Given the description of an element on the screen output the (x, y) to click on. 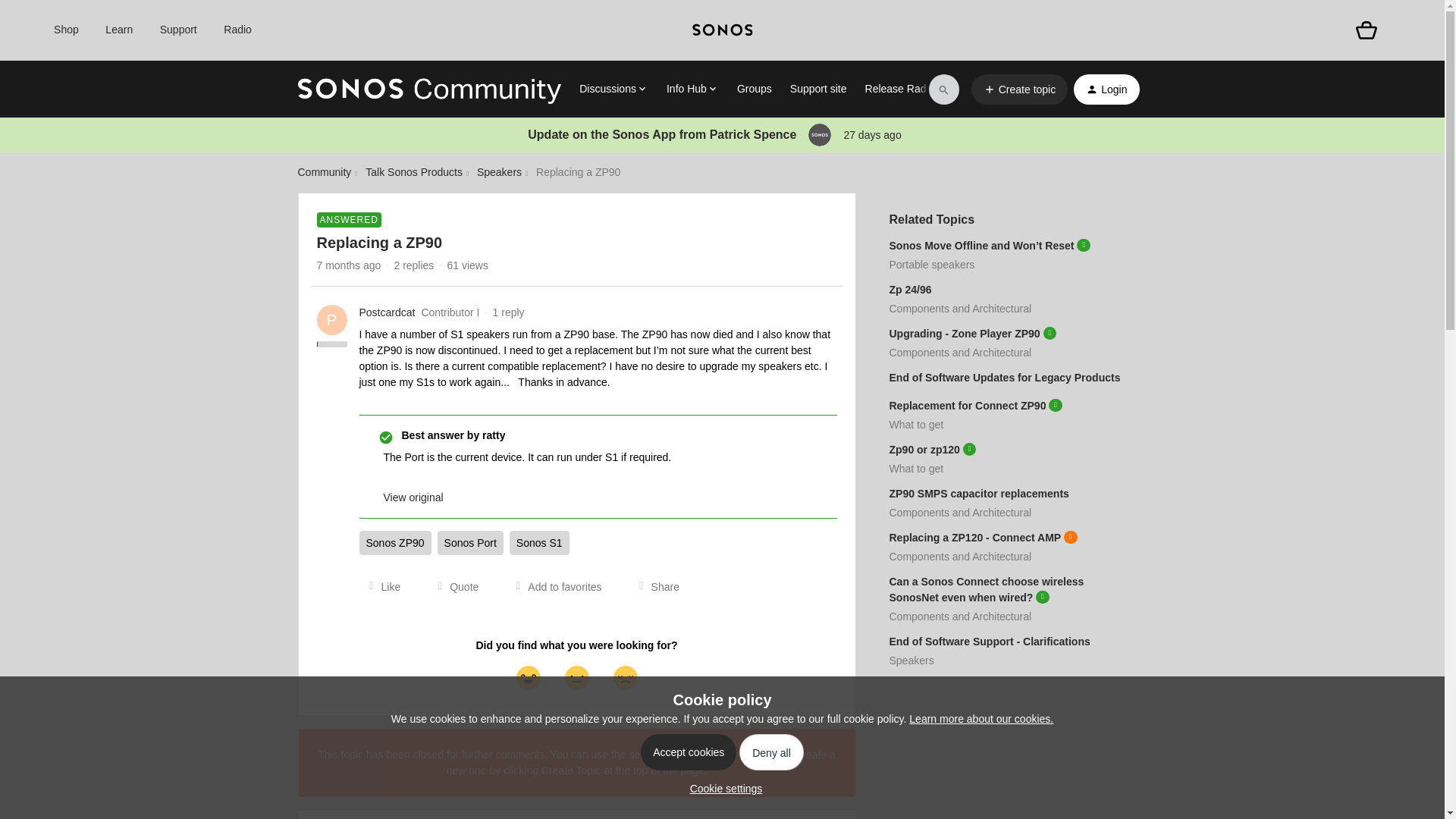
Radio (237, 30)
Learn (118, 30)
Shop (65, 30)
Support (178, 30)
Discussions (613, 88)
